Given the description of an element on the screen output the (x, y) to click on. 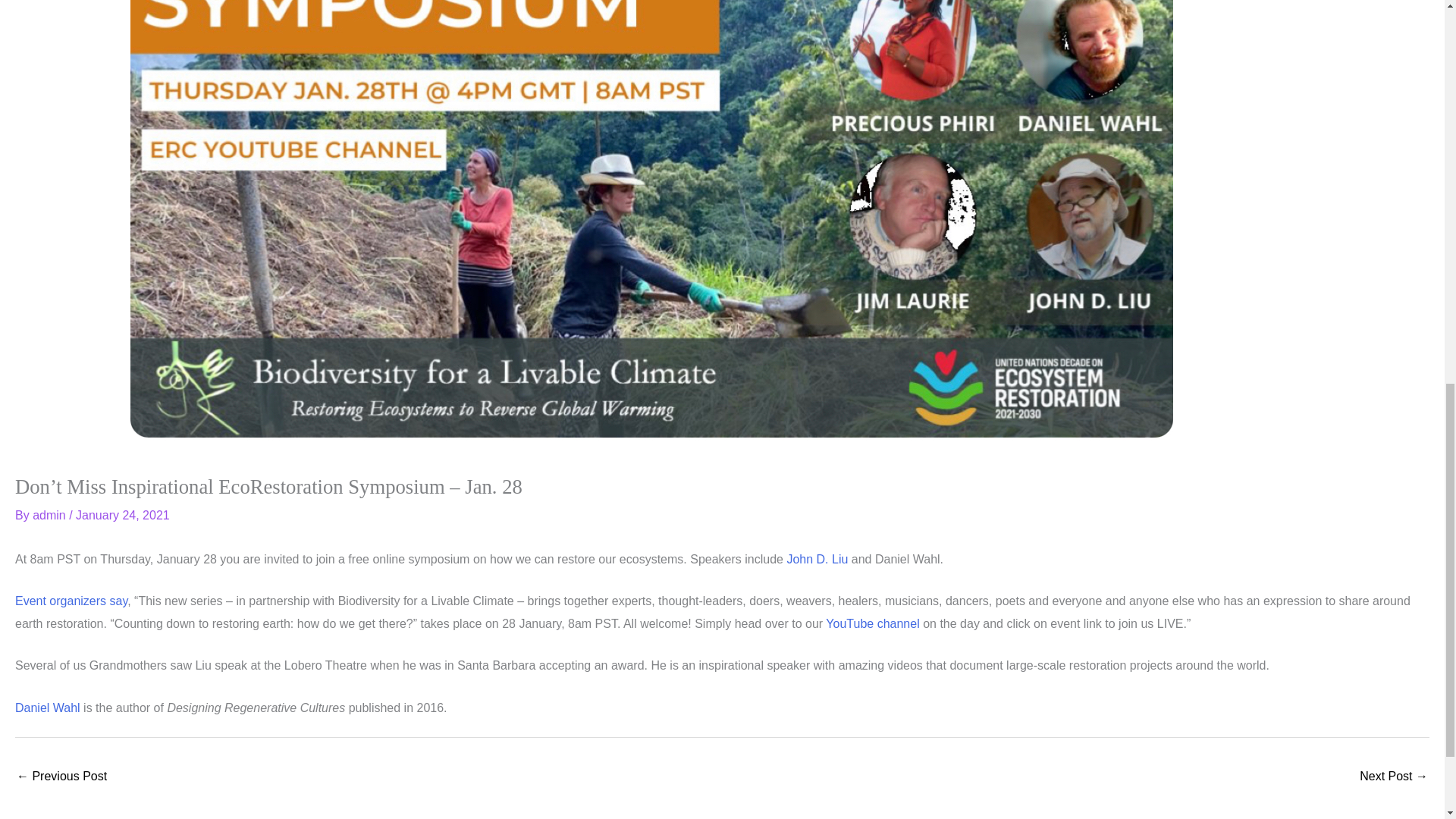
John D. Liu (816, 558)
Another Climate Win in Santa Barbara (61, 777)
YouTube channel (871, 623)
Daniel Wahl (47, 707)
Event organizers say (71, 600)
admin (50, 514)
View all posts by admin (50, 514)
